Given the description of an element on the screen output the (x, y) to click on. 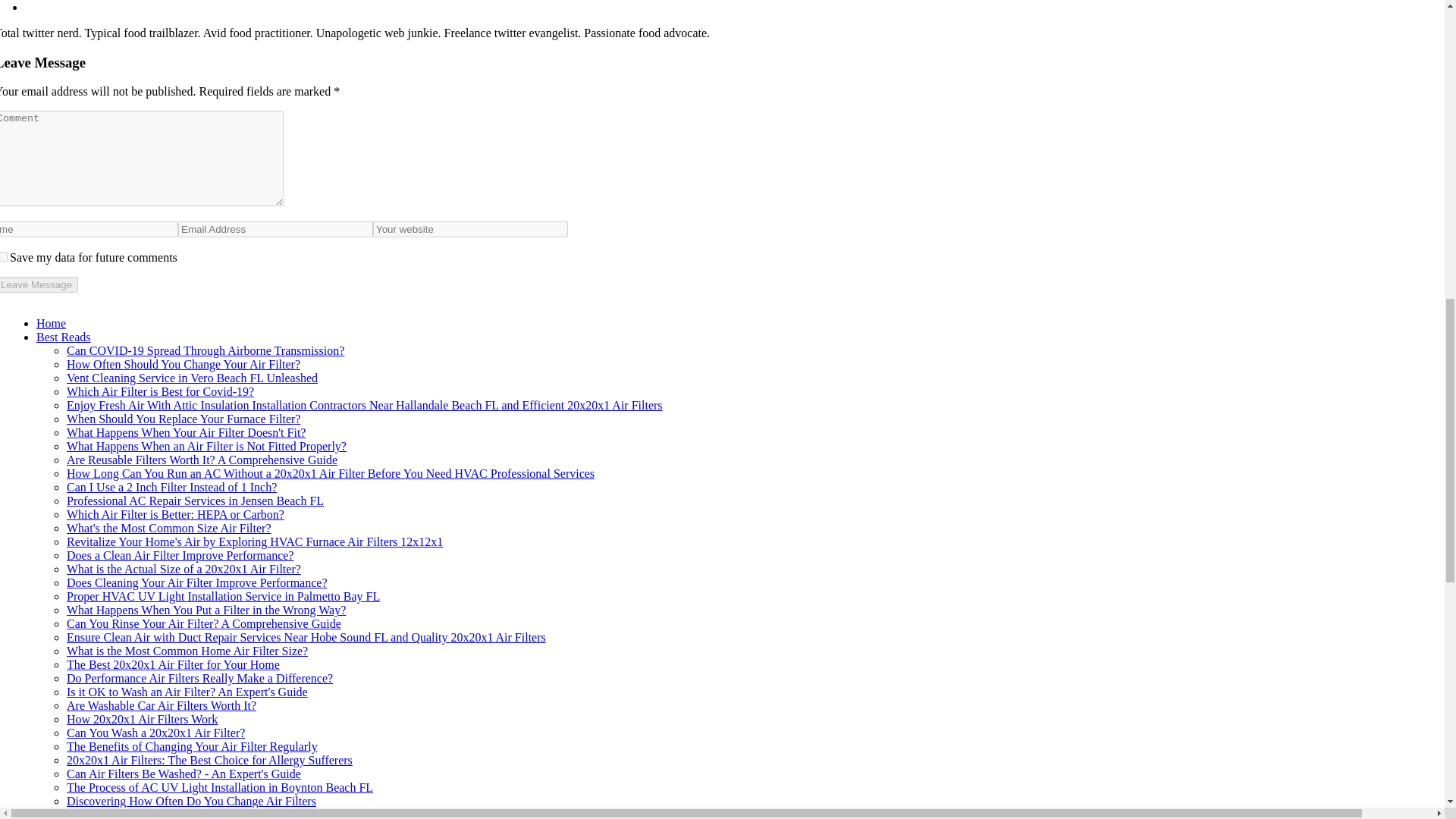
Leave Message (39, 284)
How Often Should You Change Your Air Filter? (182, 364)
What Happens When Your Air Filter Doesn't Fit? (185, 431)
Best Reads (63, 336)
Which Air Filter is Better: HEPA or Carbon? (174, 513)
Can I Use a 2 Inch Filter Instead of 1 Inch? (171, 486)
Leave Message (39, 284)
Which Air Filter is Best for Covid-19? (159, 391)
Home (50, 323)
Can COVID-19 Spread Through Airborne Transmission? (204, 350)
What Happens When an Air Filter is Not Fitted Properly? (206, 445)
Are Reusable Filters Worth It? A Comprehensive Guide (201, 459)
Vent Cleaning Service in Vero Beach FL Unleashed (191, 377)
